Given the description of an element on the screen output the (x, y) to click on. 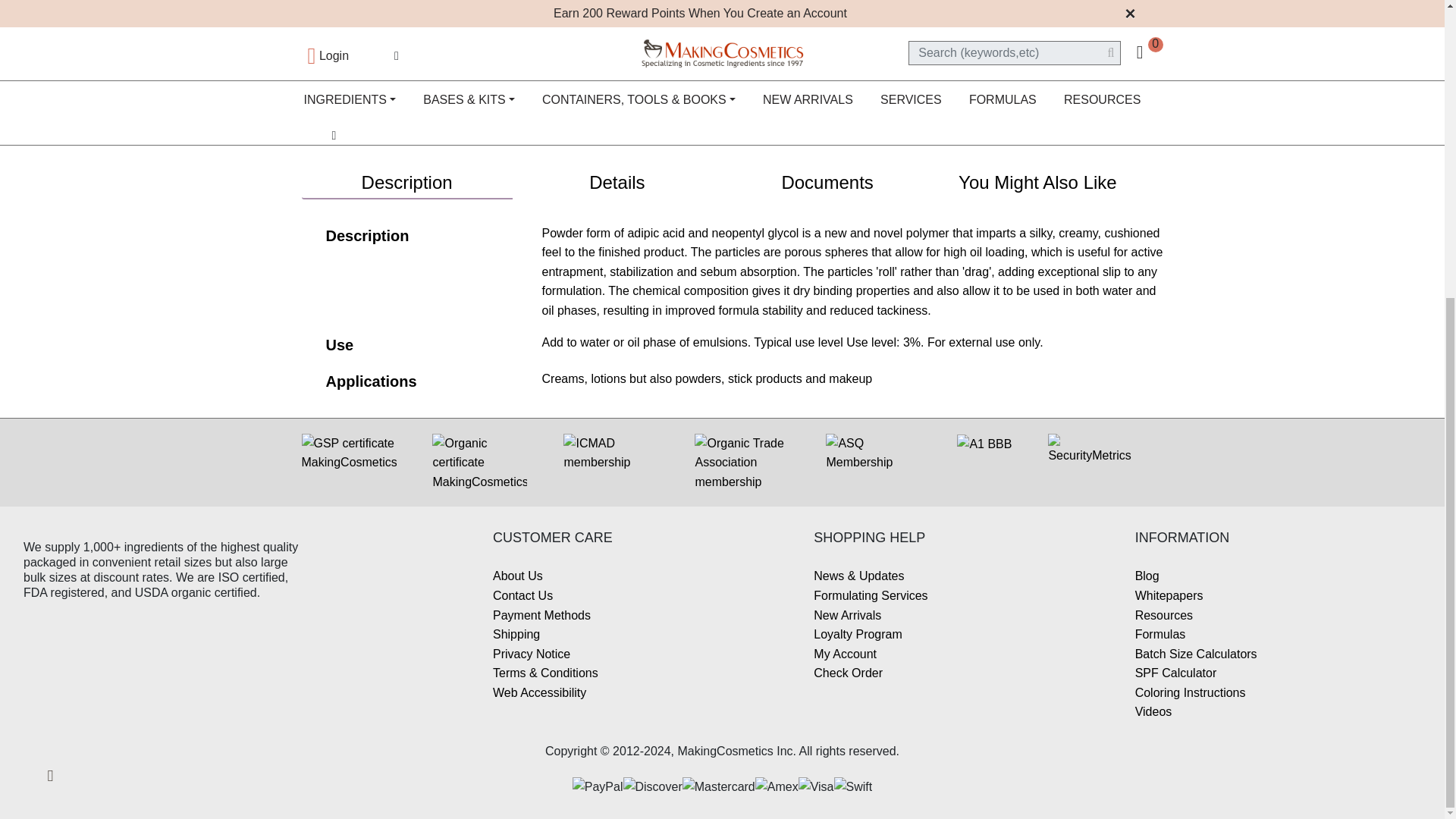
Resources (1163, 615)
News (858, 575)
Contact Us (523, 594)
Go to About Us (518, 575)
Web Accessibility (539, 692)
Shipping (516, 634)
Go to My Account (844, 653)
Formulas (1160, 634)
Payment Methods (542, 615)
Go to Check Order (847, 672)
